Given the description of an element on the screen output the (x, y) to click on. 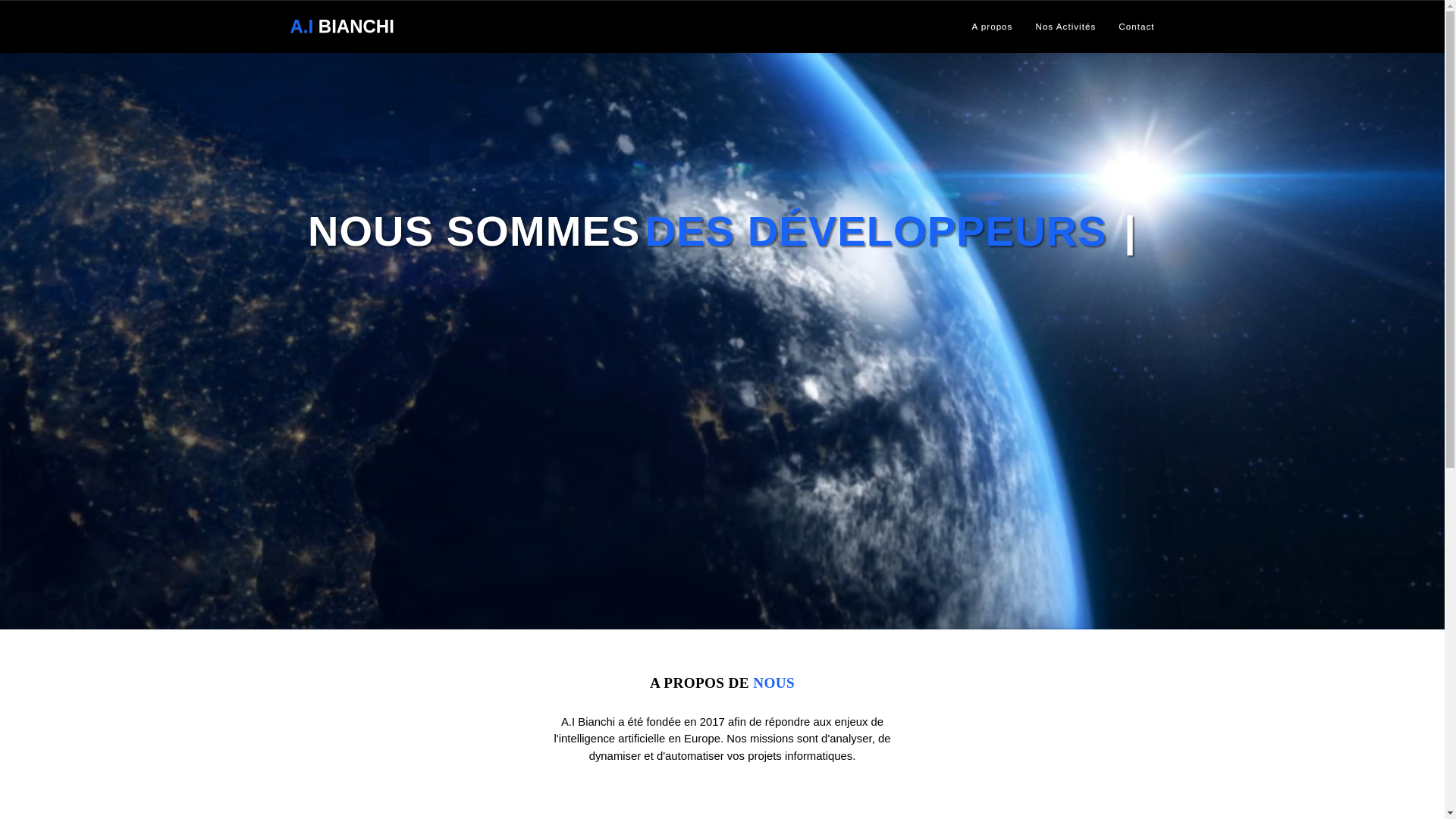
A propos Element type: text (991, 26)
A.I BIANCHI Element type: text (342, 26)
Contact Element type: text (1136, 26)
